Given the description of an element on the screen output the (x, y) to click on. 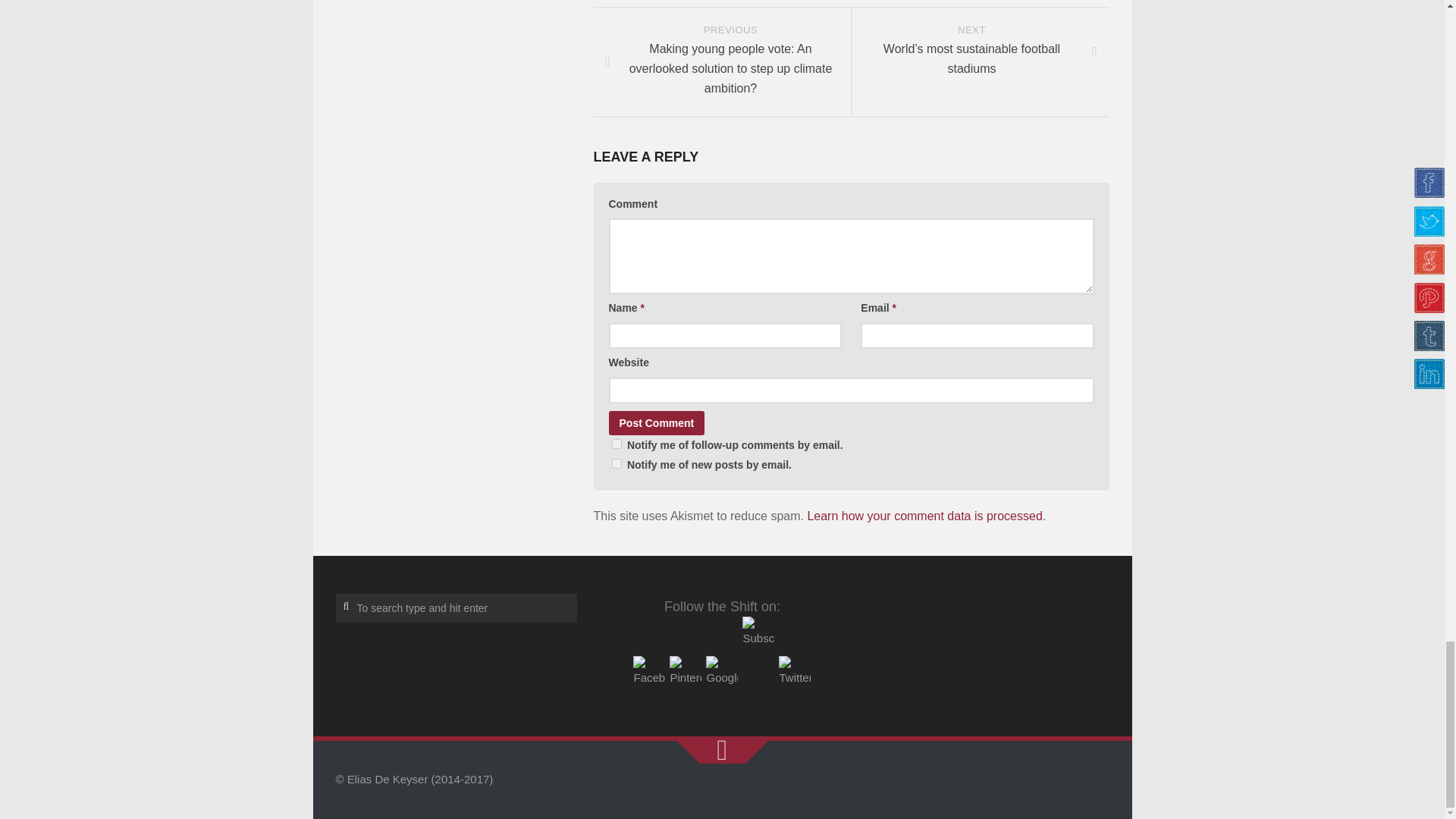
subscribe (616, 442)
Post Comment (656, 422)
To search type and hit enter (455, 607)
subscribe (616, 463)
To search type and hit enter (455, 607)
